Given the description of an element on the screen output the (x, y) to click on. 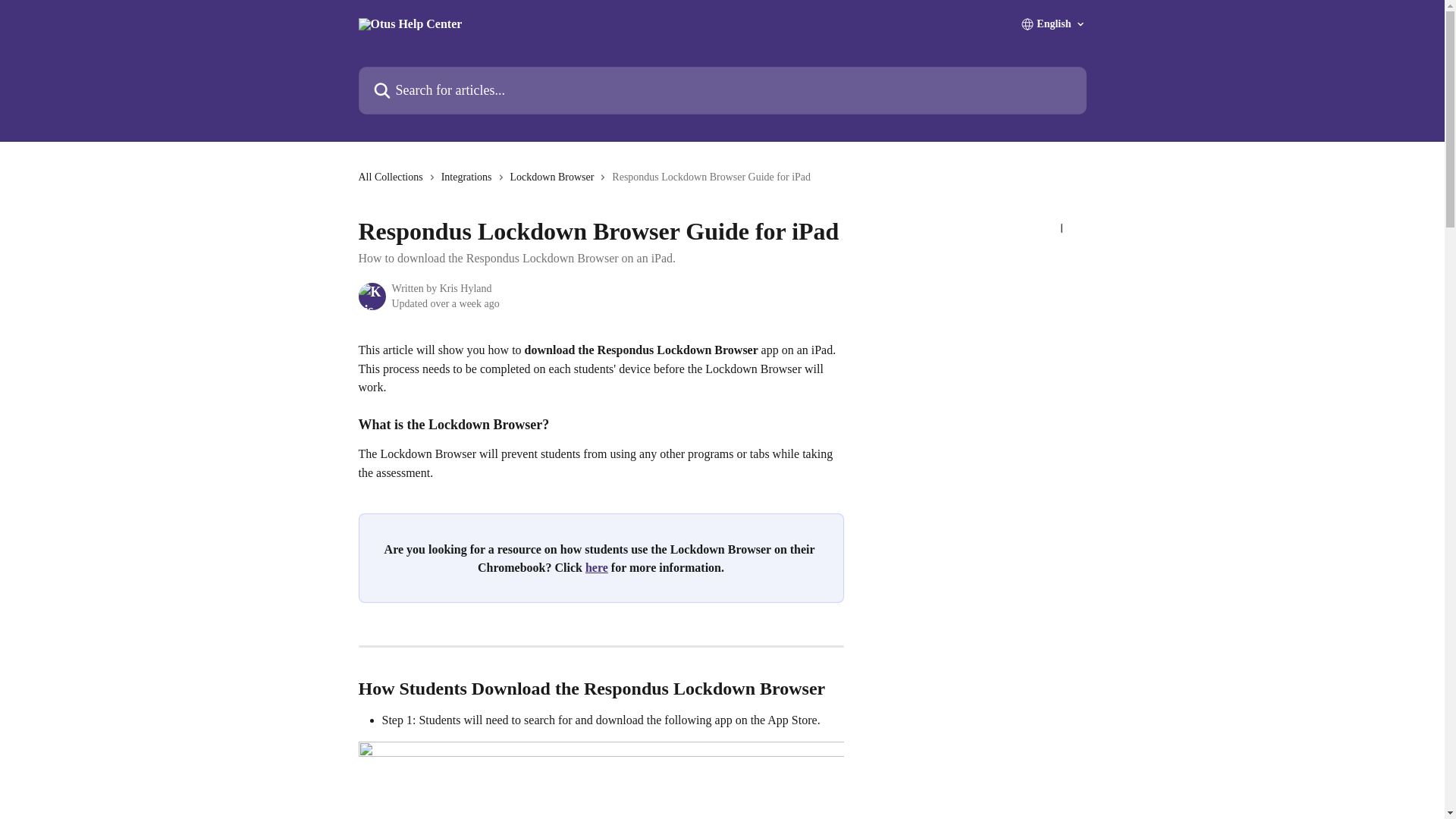
Integrations (469, 176)
here (596, 567)
All Collections (393, 176)
Lockdown Browser (555, 176)
